Given the description of an element on the screen output the (x, y) to click on. 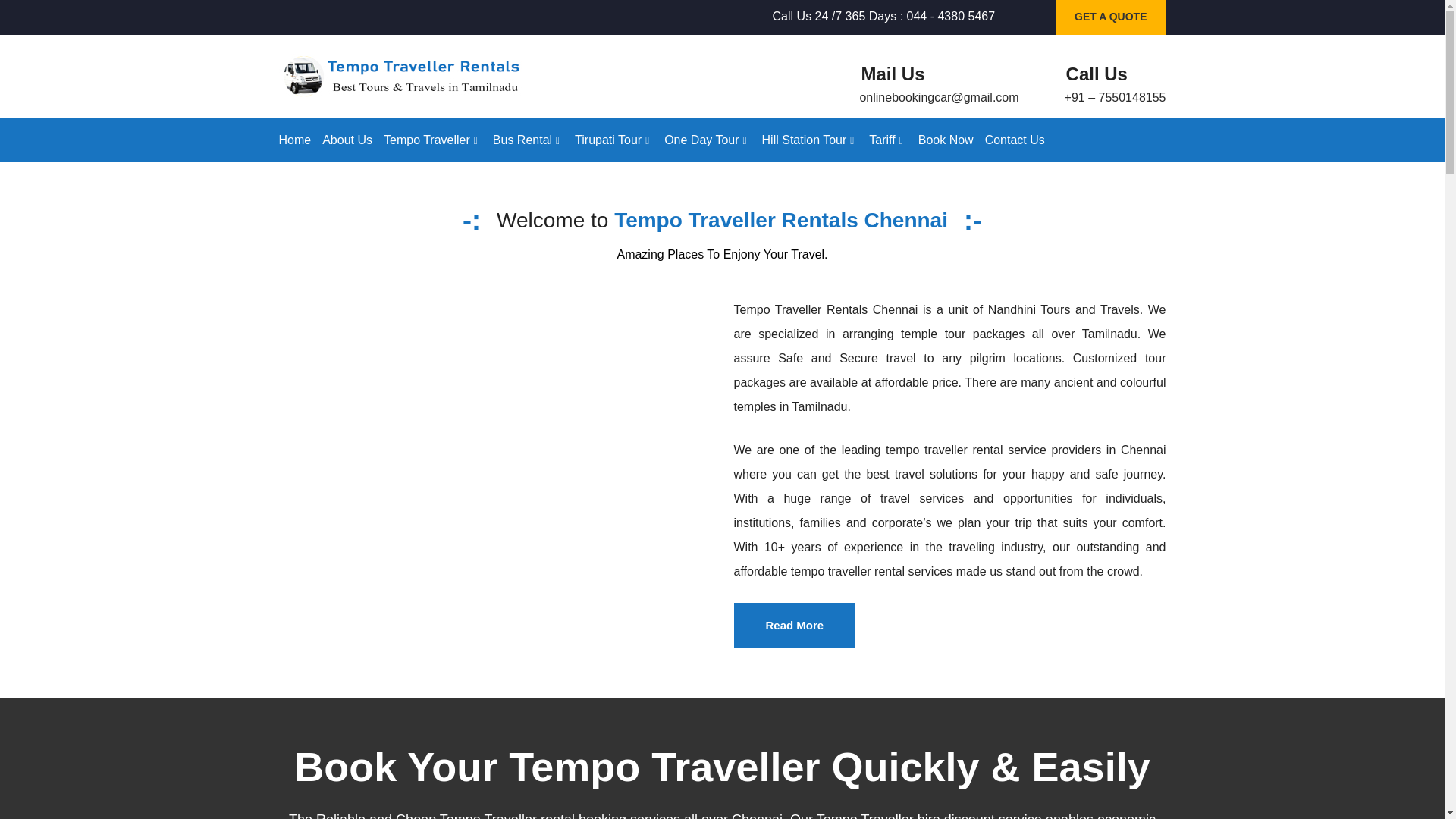
One Day Tour (706, 139)
About Us (346, 139)
Tirupati Tour (613, 139)
Bus Rental (528, 139)
Hill Station Tour (810, 139)
Tempo Traveller (432, 139)
GET A QUOTE (1110, 18)
